Given the description of an element on the screen output the (x, y) to click on. 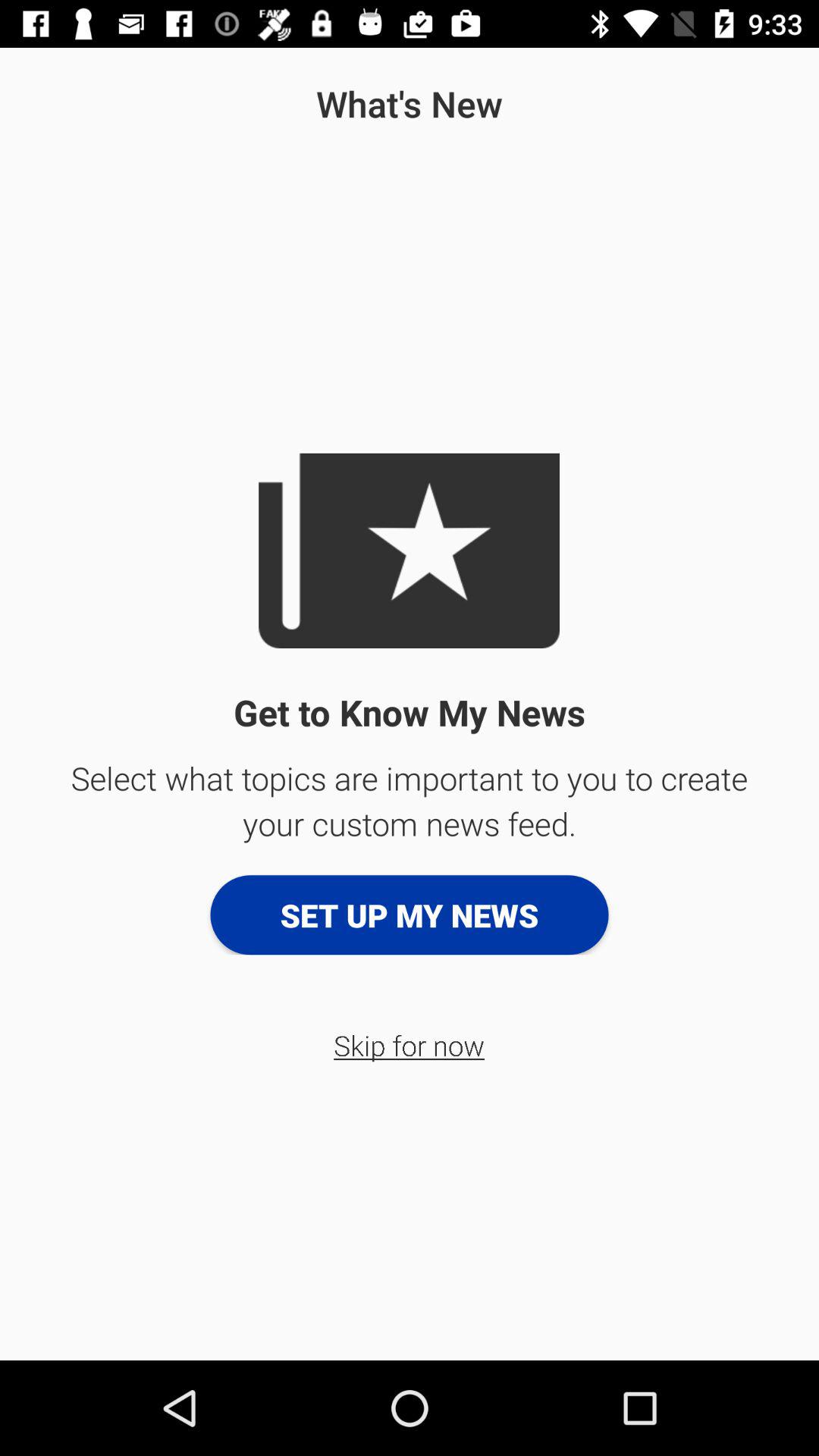
jump until the set up my icon (409, 914)
